Given the description of an element on the screen output the (x, y) to click on. 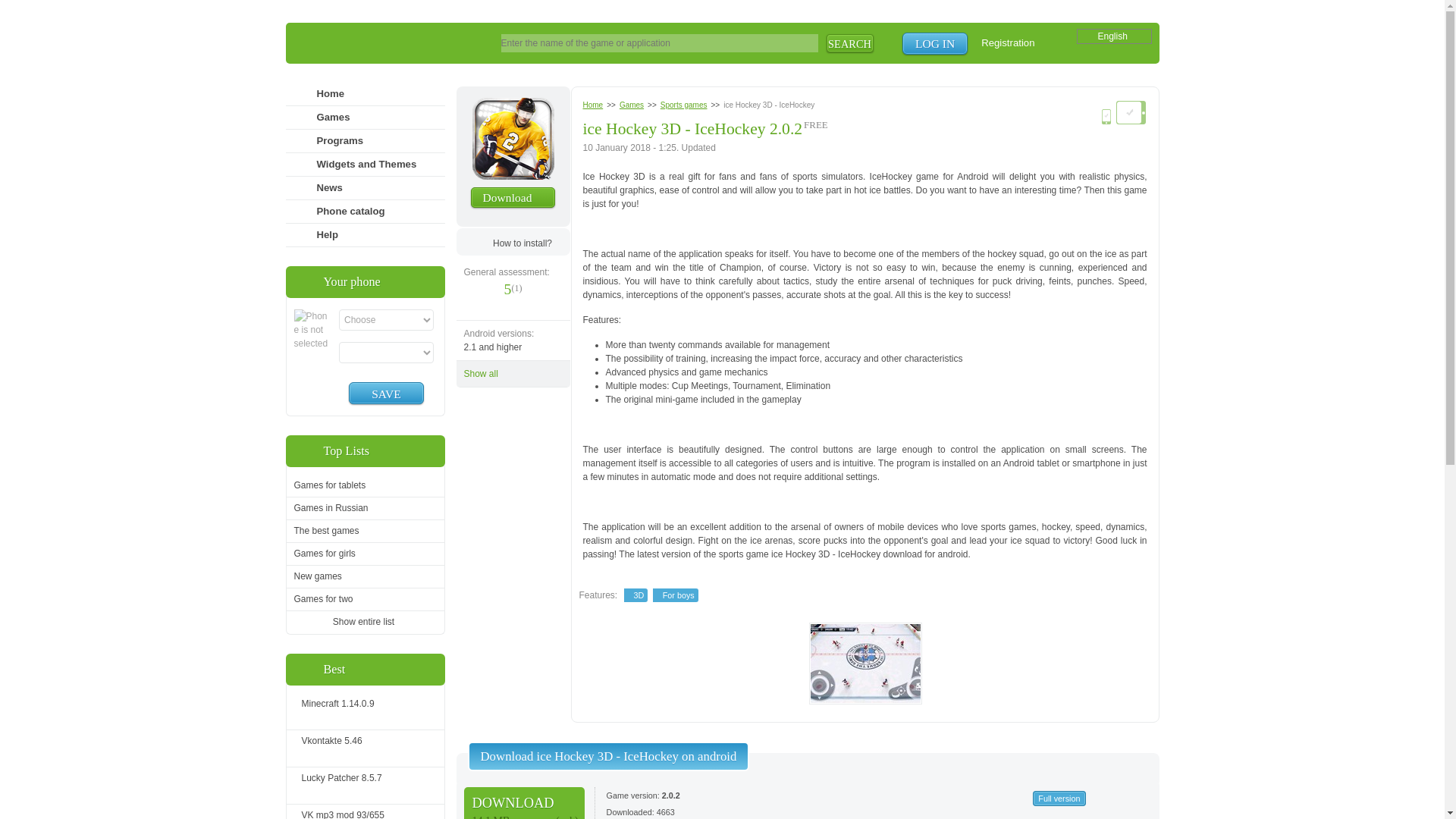
For boys (675, 594)
Show all (513, 373)
Sports games (684, 104)
LOG IN (935, 43)
Full version (1058, 798)
The application is not required to download the cache (815, 124)
Top-Android (378, 44)
Download apk file, size 14.1 MB (524, 803)
SEARCH (850, 43)
How to install? (513, 241)
Voted: 1 (516, 287)
Games (631, 104)
The best free android apps download for free without ads (378, 44)
Home (1131, 111)
